Given the description of an element on the screen output the (x, y) to click on. 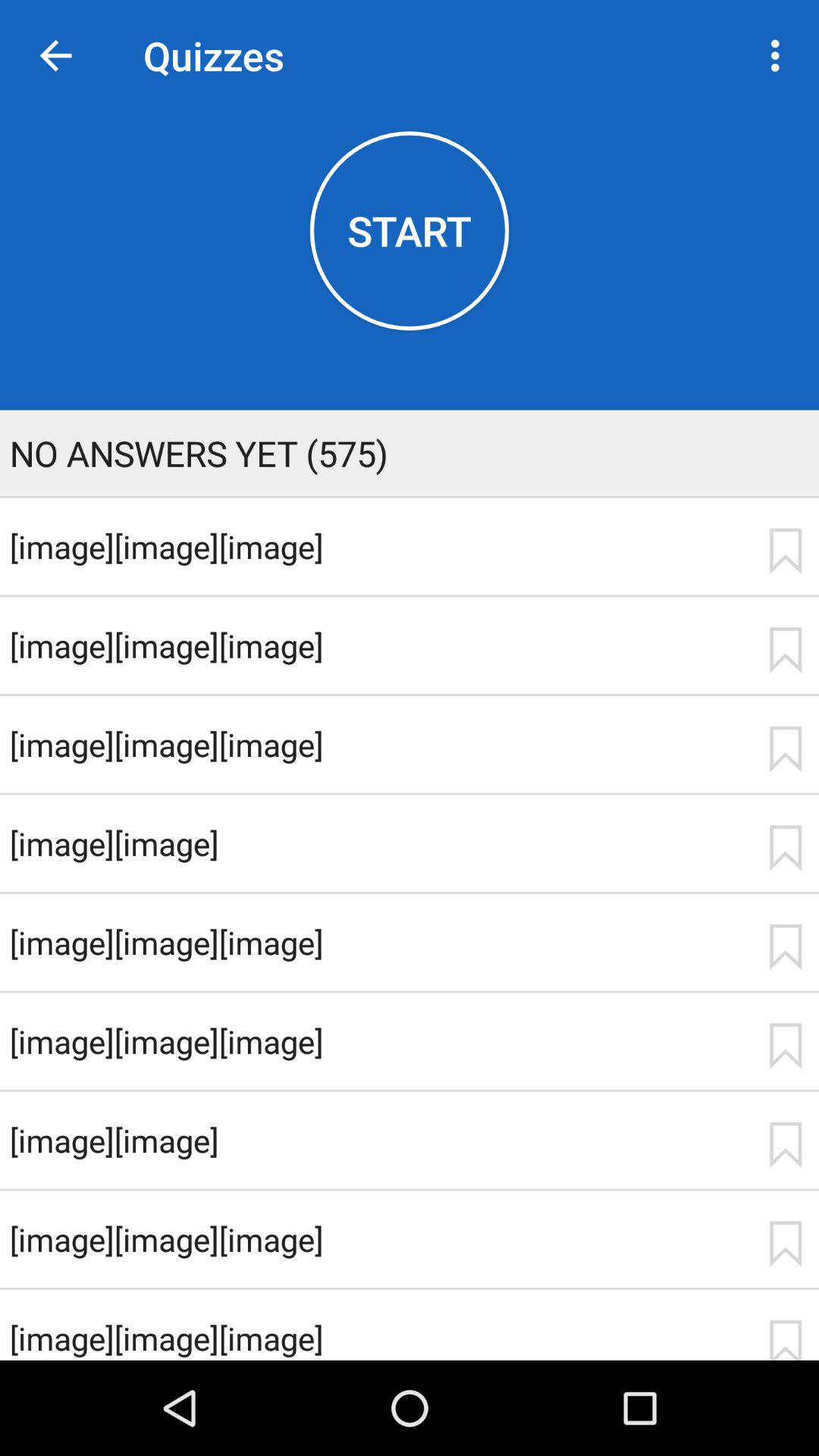
favorite (784, 551)
